Given the description of an element on the screen output the (x, y) to click on. 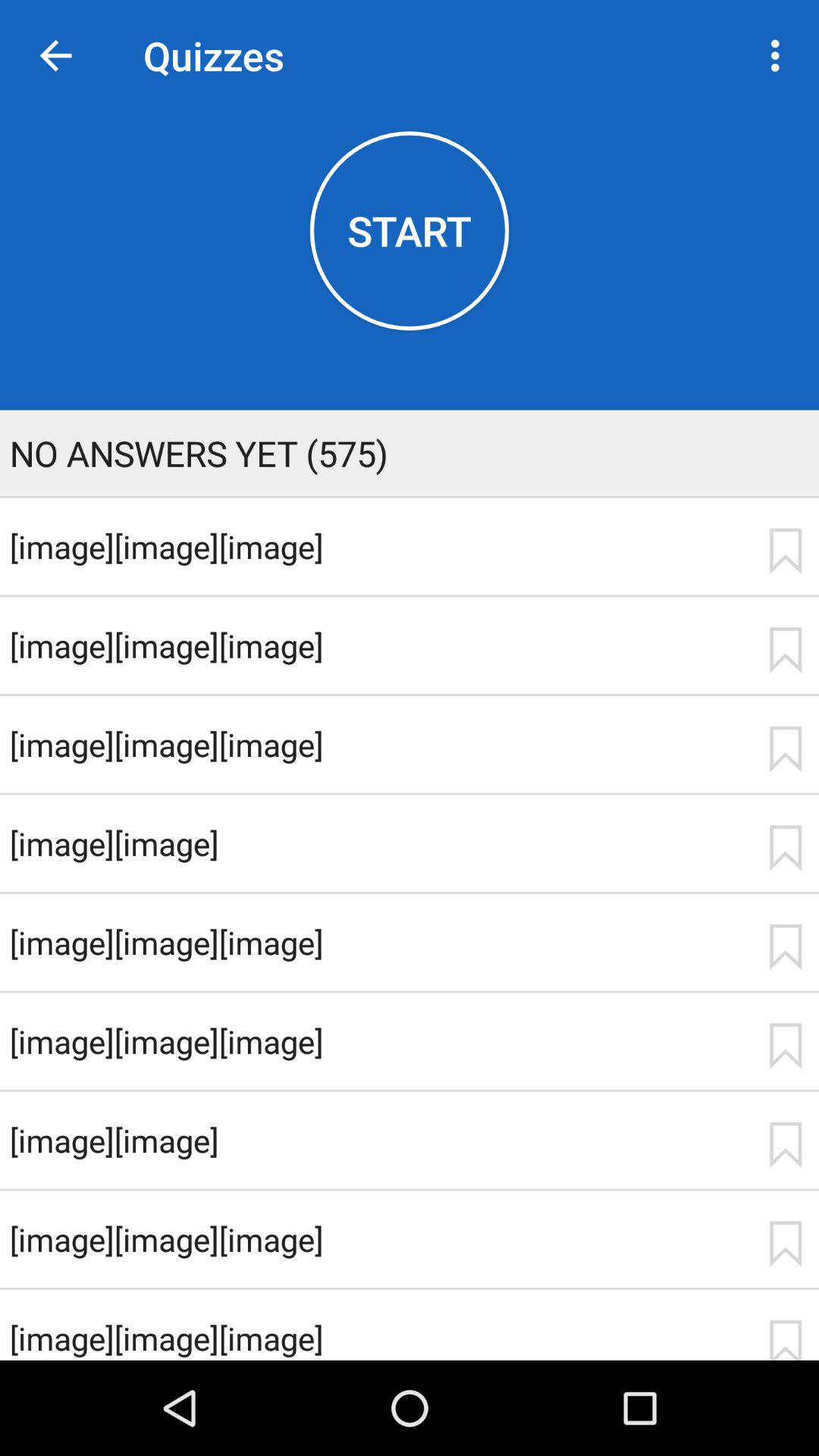
favorite (784, 551)
